Given the description of an element on the screen output the (x, y) to click on. 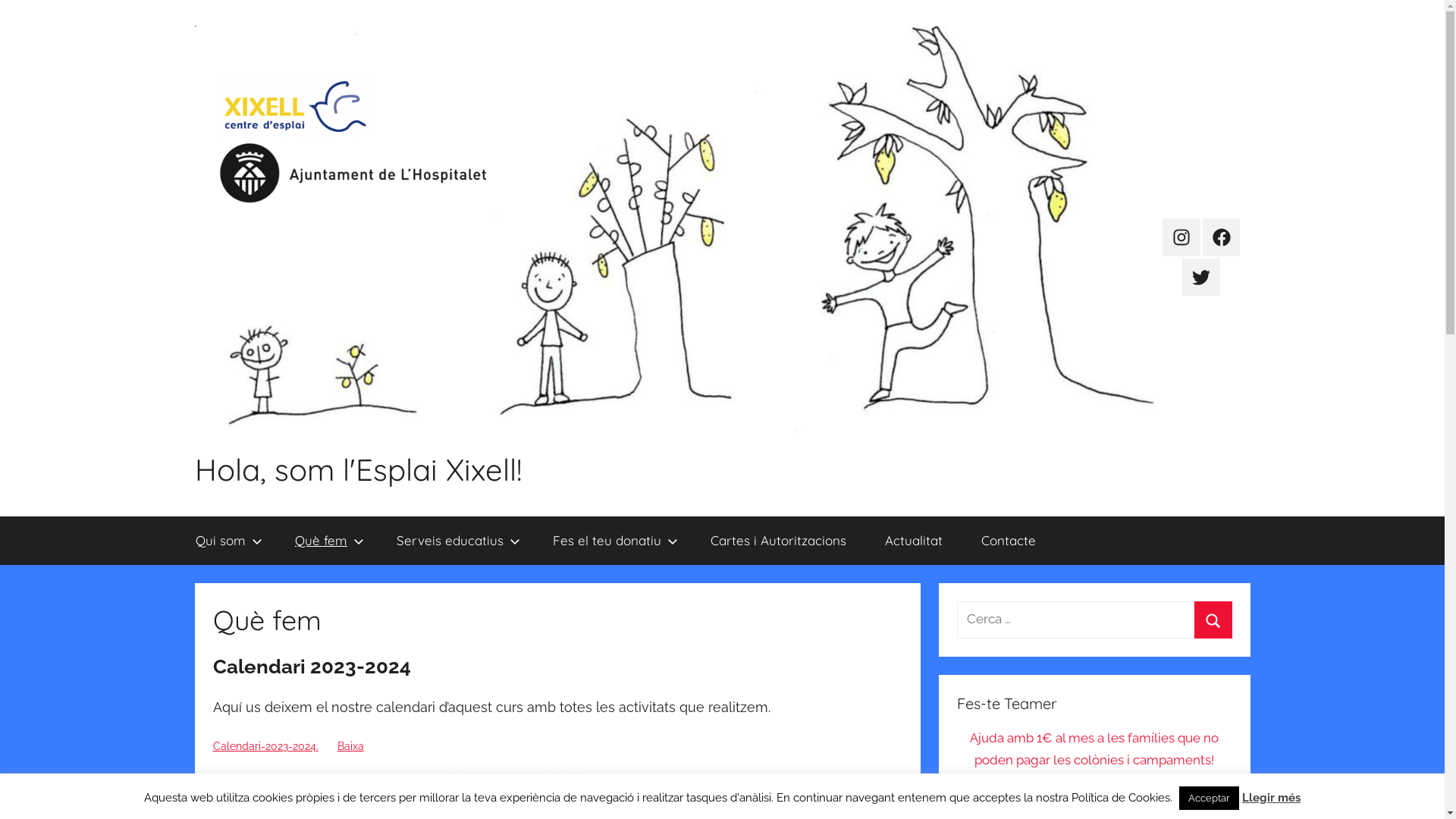
Qui som Element type: text (225, 540)
Cartes i Autoritzacions Element type: text (778, 540)
instagram Element type: text (1181, 237)
Fes el teu donatiu Element type: text (612, 540)
Cerca: Element type: hover (1094, 619)
Acceptar Element type: text (1209, 797)
facebook Element type: text (1221, 237)
Serveis educatius Element type: text (455, 540)
Actualitat Element type: text (914, 540)
Calendari-2023-2024. Element type: text (264, 745)
Hola, som l'Esplai Xixell! Element type: text (357, 469)
Baixa Element type: text (350, 745)
Contacte Element type: text (1007, 540)
twitter Element type: text (1201, 277)
